Given the description of an element on the screen output the (x, y) to click on. 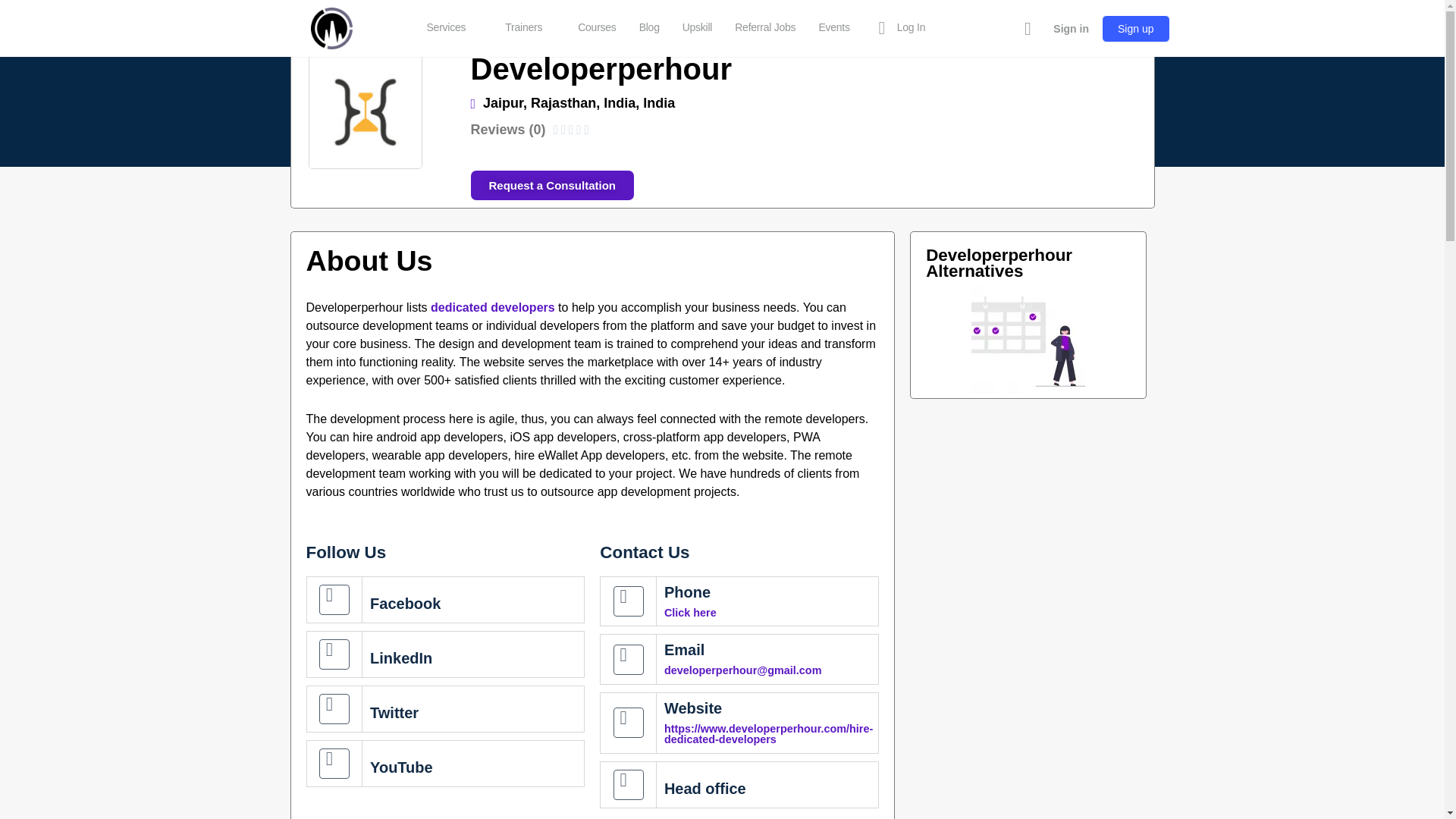
Services (452, 28)
Trainers (529, 28)
